Given the description of an element on the screen output the (x, y) to click on. 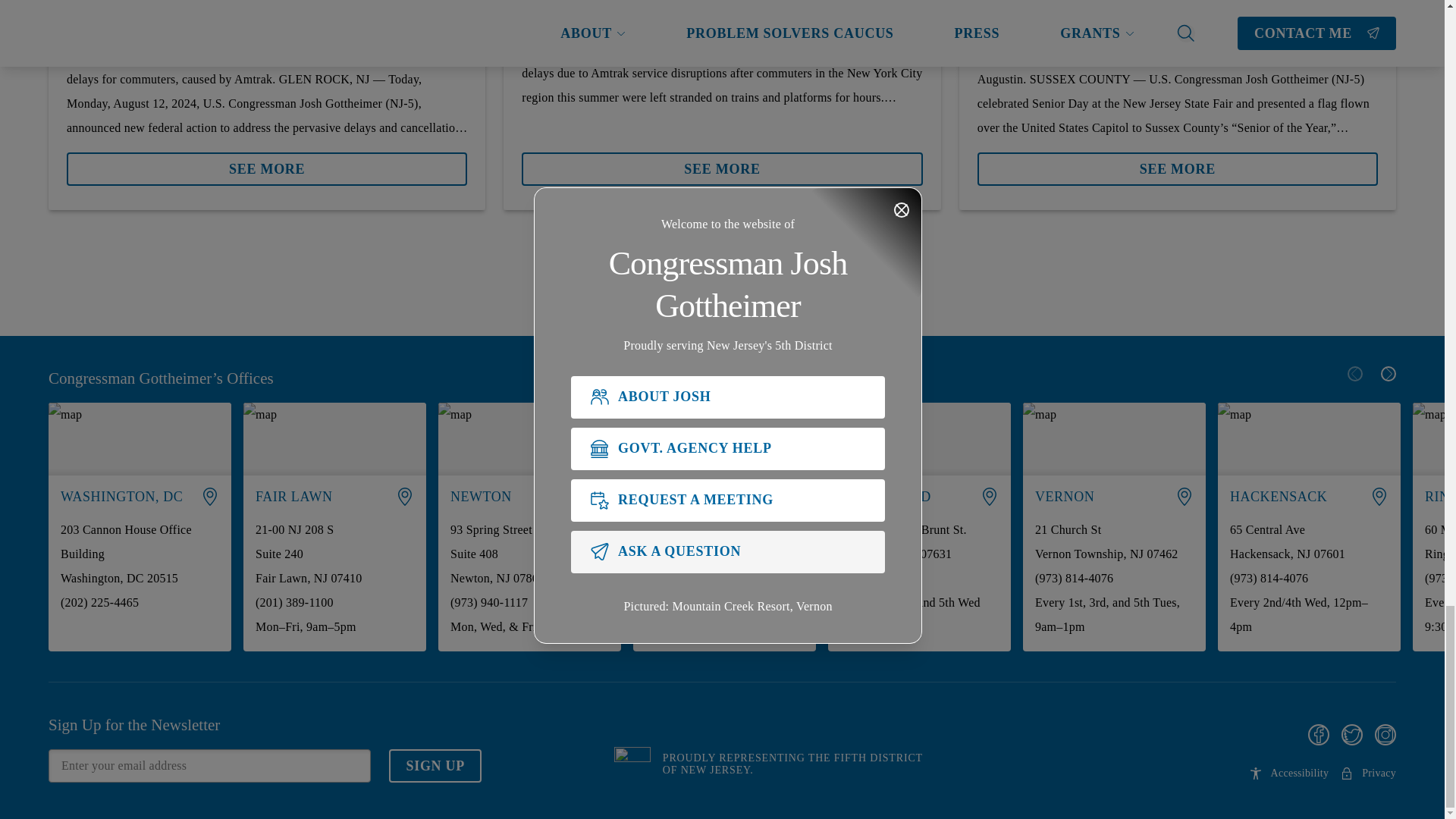
SEE MORE (721, 168)
SEE MORE (266, 162)
SEE MORE (266, 168)
SEE MORE (721, 162)
